Given the description of an element on the screen output the (x, y) to click on. 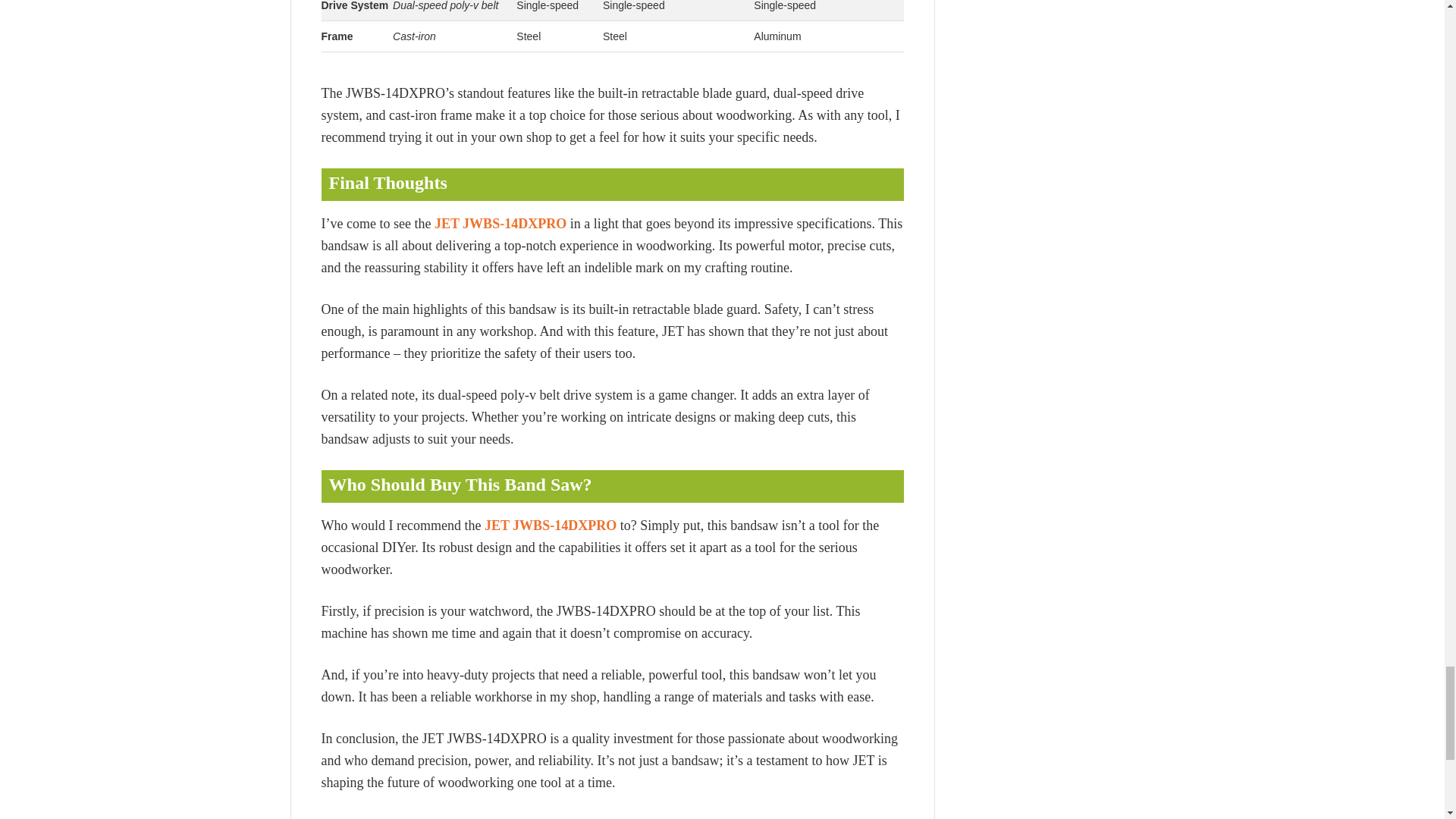
JET JWBS-14DXPRO (549, 525)
JET JWBS-14DXPRO (499, 223)
